Given the description of an element on the screen output the (x, y) to click on. 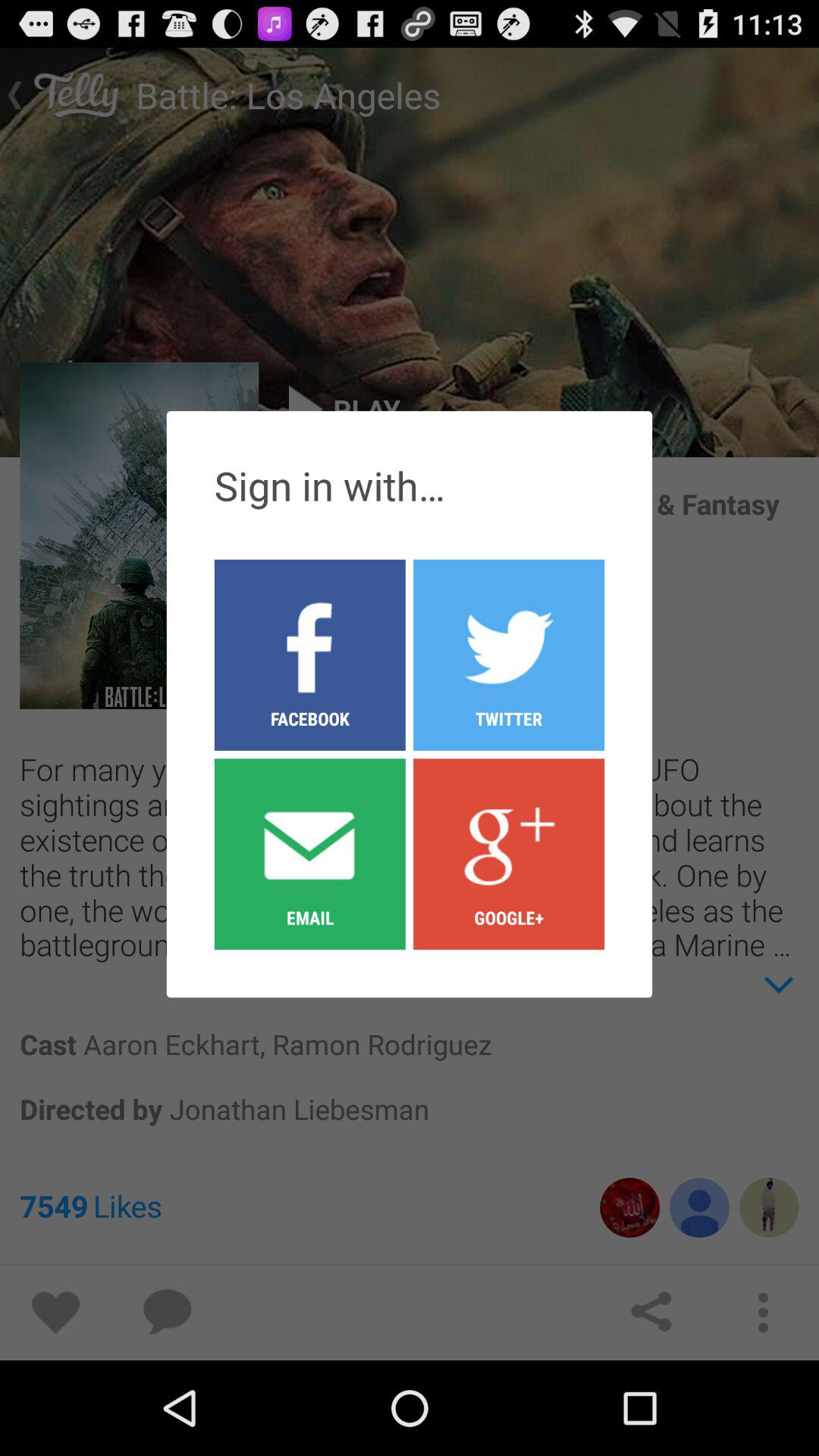
click icon next to the twitter item (309, 853)
